Given the description of an element on the screen output the (x, y) to click on. 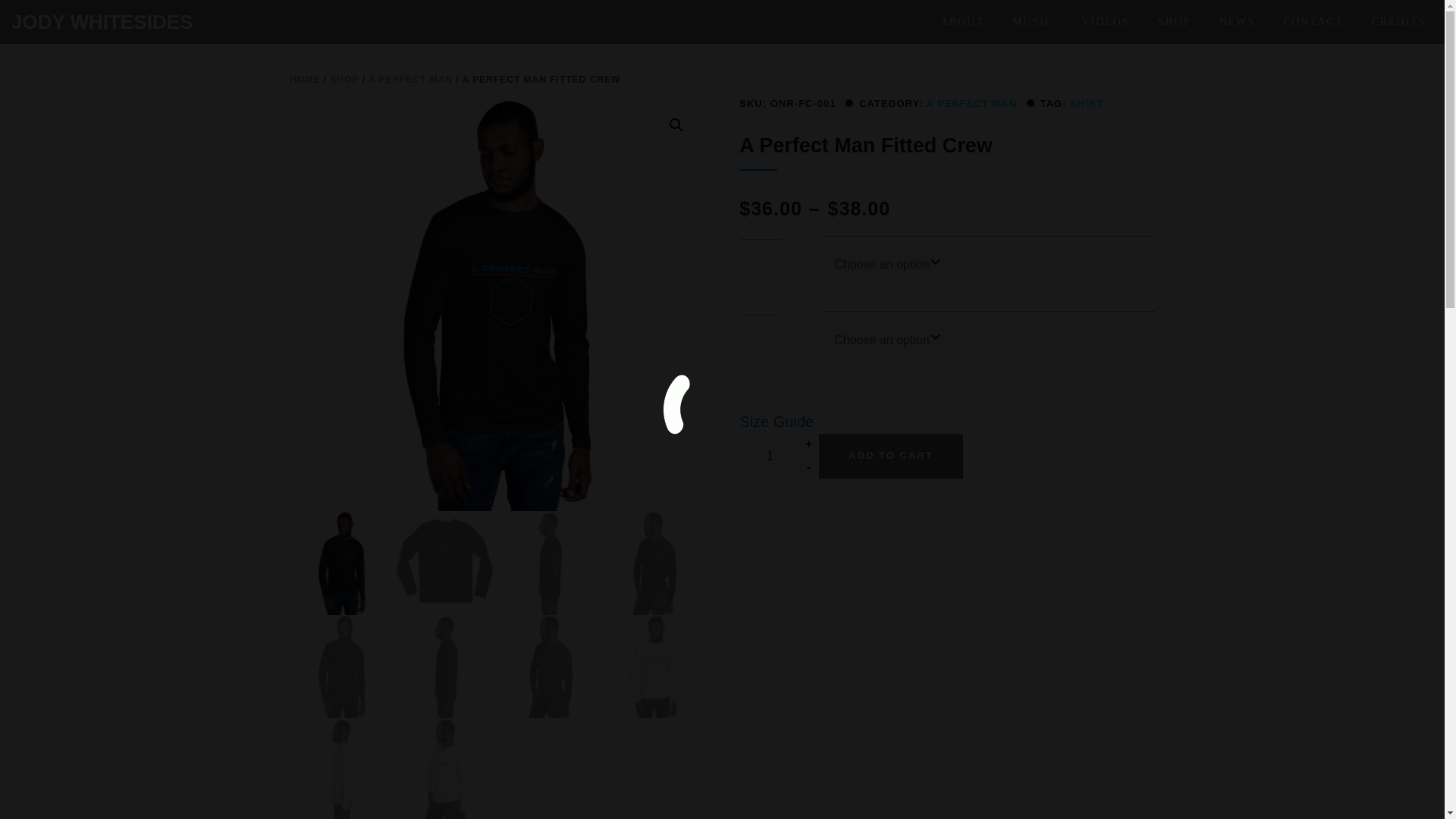
Size Guide (776, 421)
HOME (304, 79)
About (961, 23)
A PERFECT MAN (971, 102)
CONTACT (1313, 23)
Videos (1104, 23)
JODY WHITESIDES (101, 21)
ADD TO CART (890, 456)
1 (769, 456)
SHOP (1174, 23)
